Given the description of an element on the screen output the (x, y) to click on. 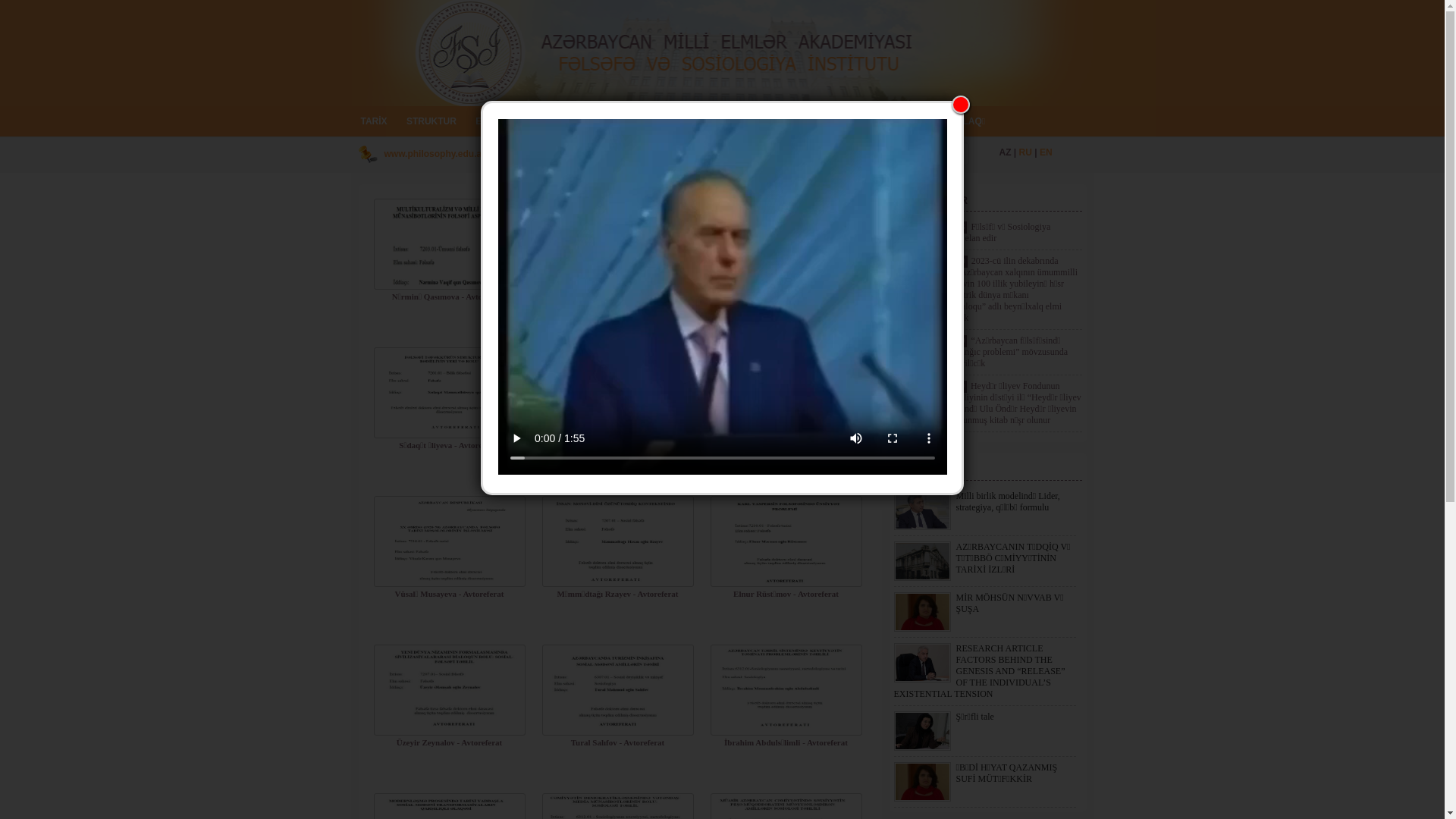
Axtar Element type: hover (962, 161)
STRUKTUR Element type: text (431, 121)
ELEKTRON RESURSLAR Element type: text (529, 121)
www.philosophy.edu.az Element type: text (434, 153)
X Element type: text (960, 104)
RU Element type: text (1025, 152)
EN Element type: text (1045, 152)
FOTOQALEREYA Element type: text (825, 121)
